Given the description of an element on the screen output the (x, y) to click on. 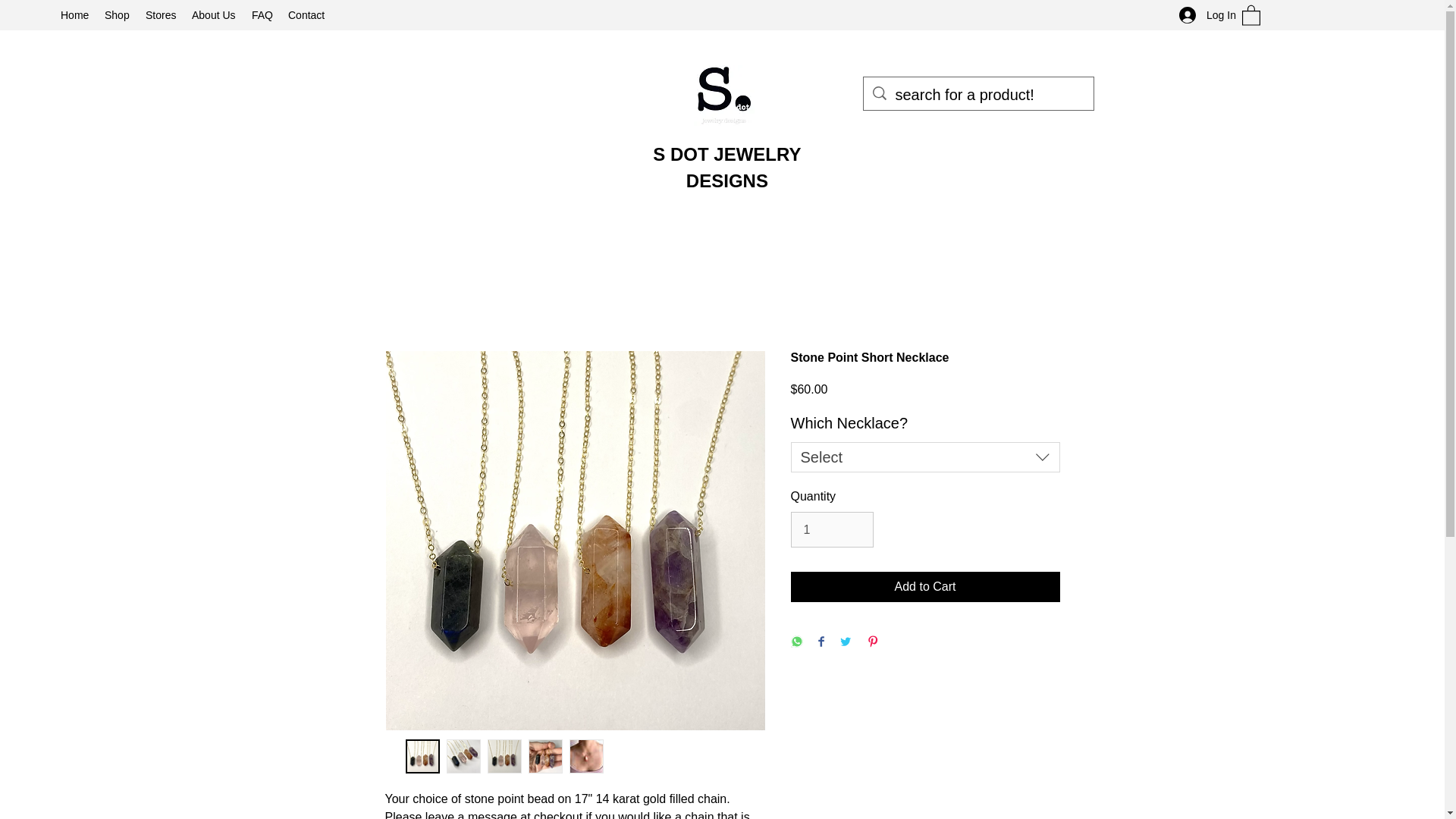
Select (924, 457)
Home (74, 15)
1 (831, 529)
Add to Cart (924, 586)
Shop (117, 15)
Stores (161, 15)
Log In (1202, 14)
About Us (214, 15)
Contact (307, 15)
FAQ (262, 15)
